Given the description of an element on the screen output the (x, y) to click on. 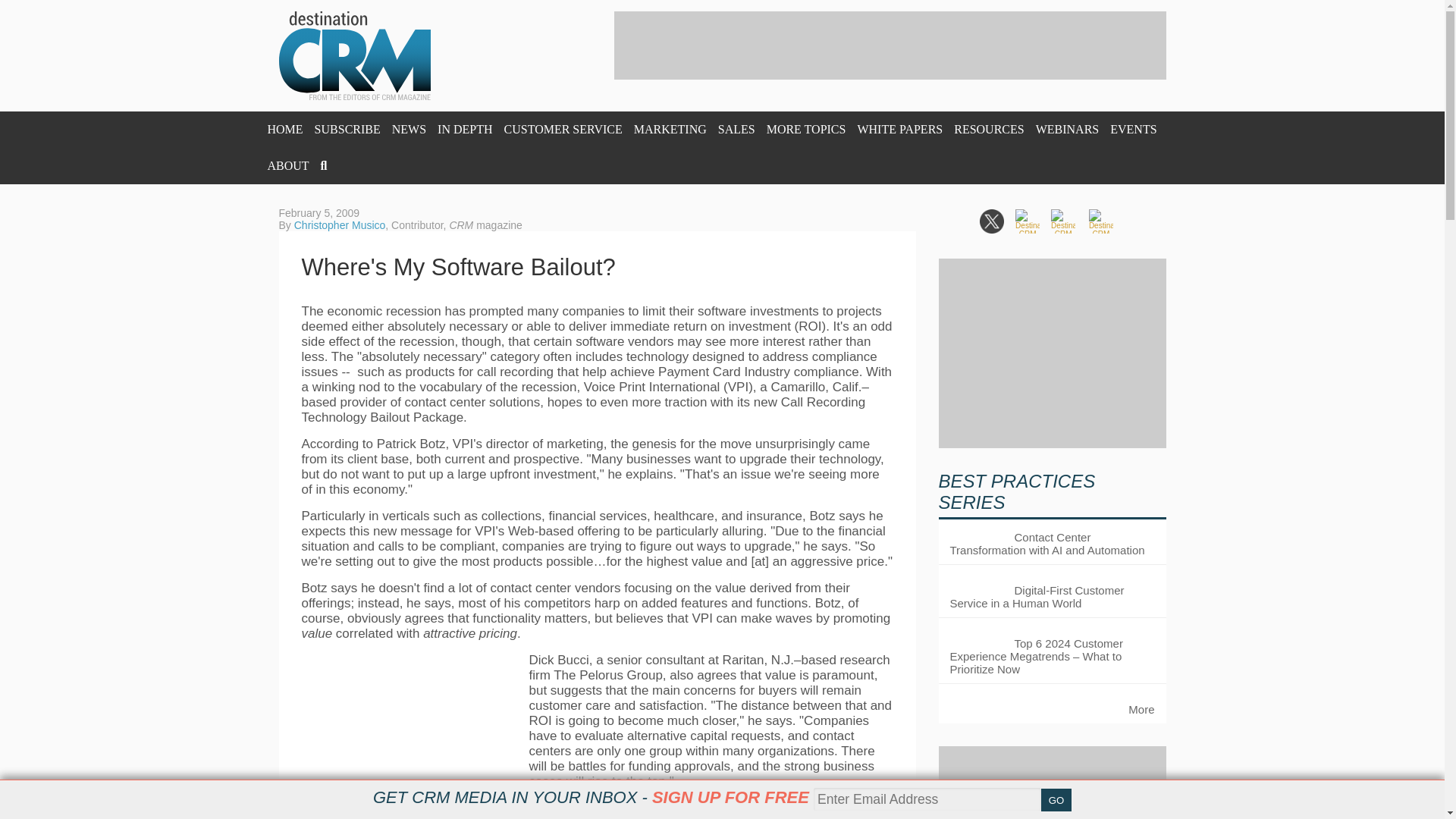
HOME (284, 129)
GET CRM MEDIA IN YOUR INBOX - SIGN UP FOR FREE (590, 797)
CUSTOMER SERVICE (563, 129)
Marketing (669, 129)
WHITE PAPERS (899, 129)
RESOURCES (988, 129)
NEWS (408, 129)
Sales (736, 129)
MORE TOPICS (806, 129)
Customer Service (563, 129)
